Given the description of an element on the screen output the (x, y) to click on. 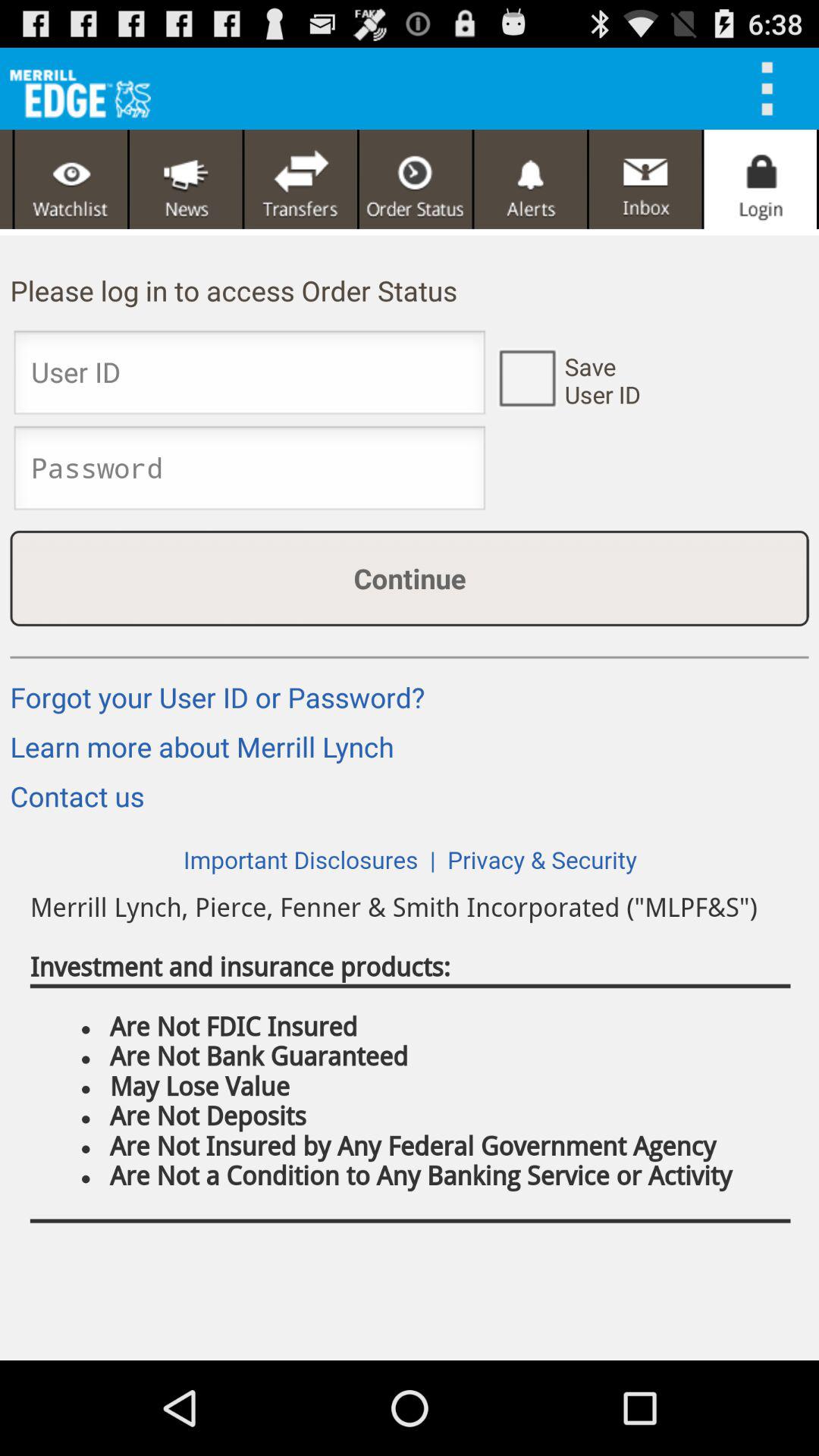
order status (415, 179)
